Given the description of an element on the screen output the (x, y) to click on. 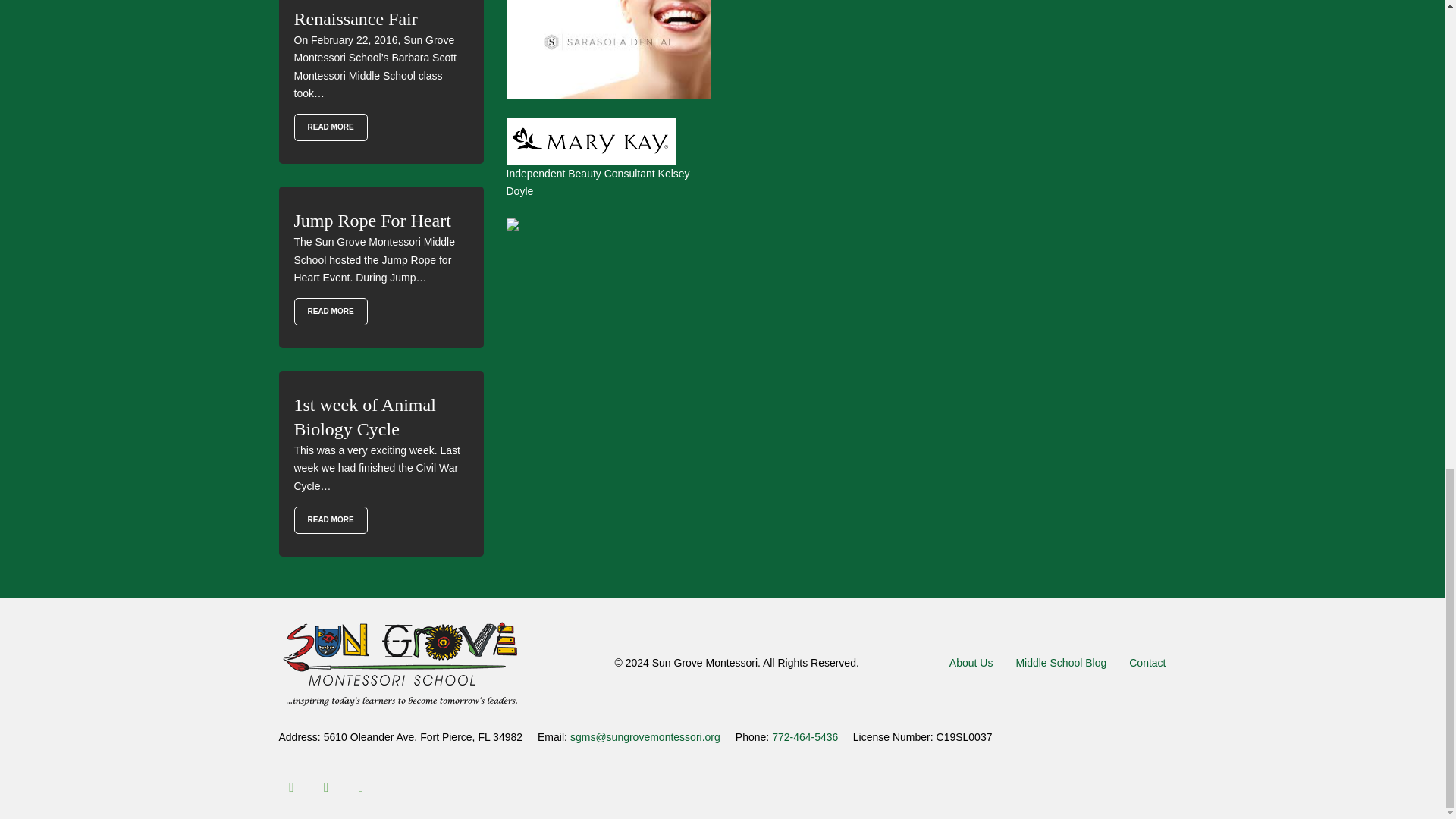
Jump Rope For Heart (331, 311)
Renaissance Fair (331, 126)
1st week of Animal Biology Cycle (331, 519)
